Given the description of an element on the screen output the (x, y) to click on. 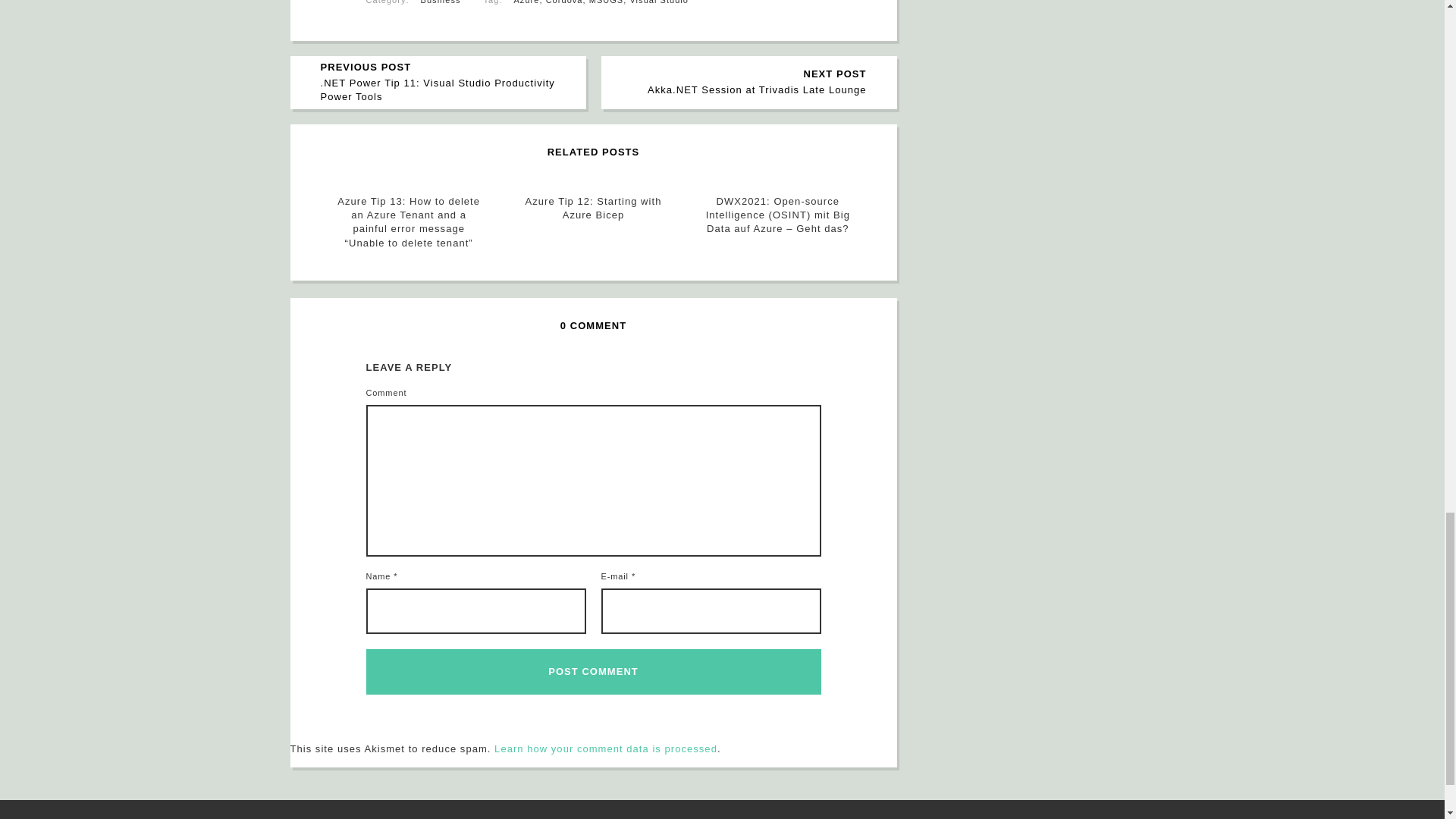
POST COMMENT (744, 82)
POST COMMENT (593, 671)
Business (593, 671)
Cordova (440, 2)
MSUGS (564, 2)
Visual Studio (606, 2)
Azure Tip 12: Starting with Azure Bicep (658, 2)
Azure (593, 208)
